Given the description of an element on the screen output the (x, y) to click on. 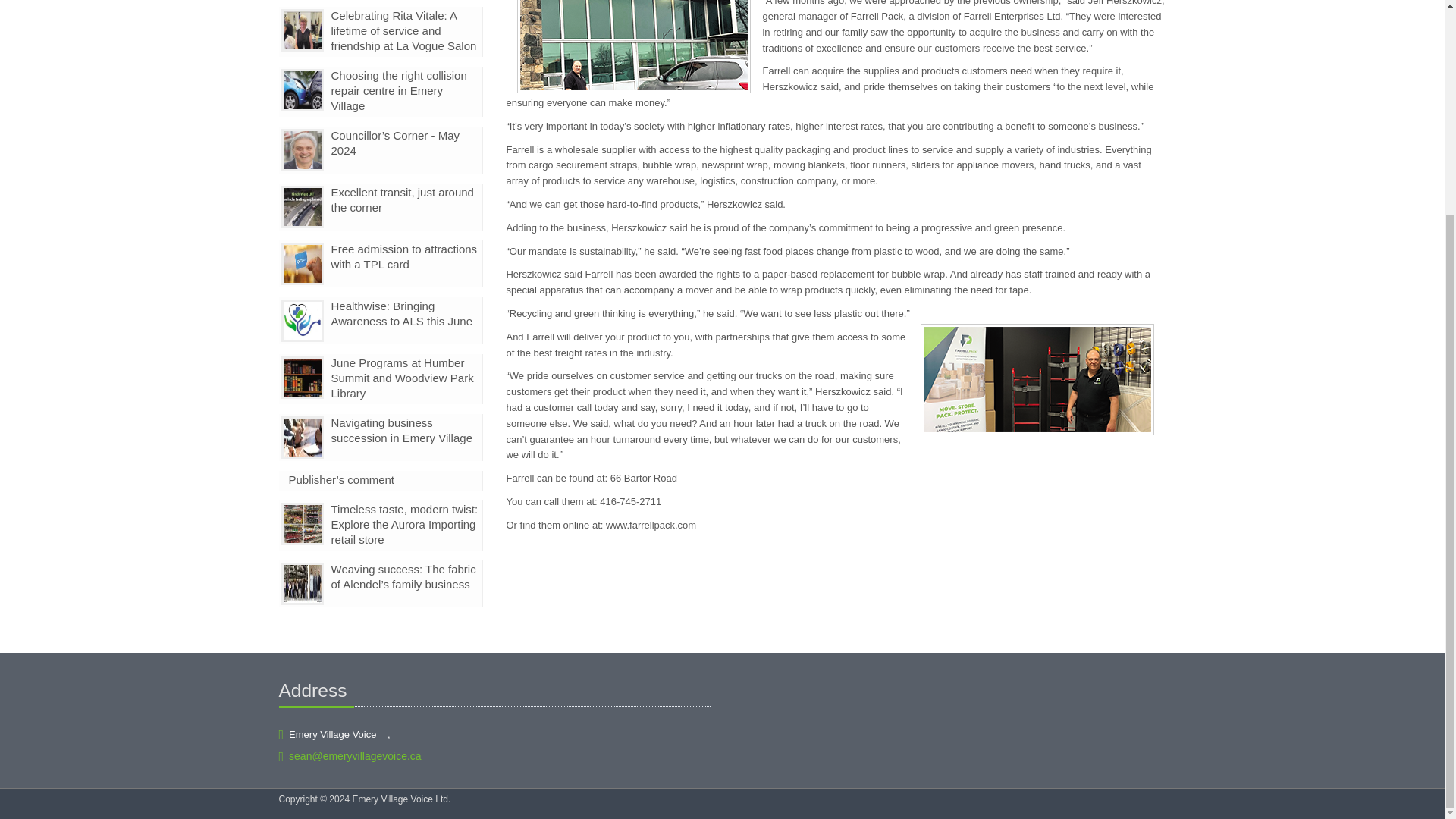
Excellent transit, just around the corner (401, 199)
June Programs at Humber Summit and Woodview Park Library (401, 377)
Choosing the right collision repair centre in Emery Village (397, 90)
Healthwise: Bringing Awareness to ALS this June (400, 313)
www.farrellpack.com (650, 524)
Navigating business succession in Emery Village (400, 430)
Free admission to attractions with a TPL card (403, 256)
